Given the description of an element on the screen output the (x, y) to click on. 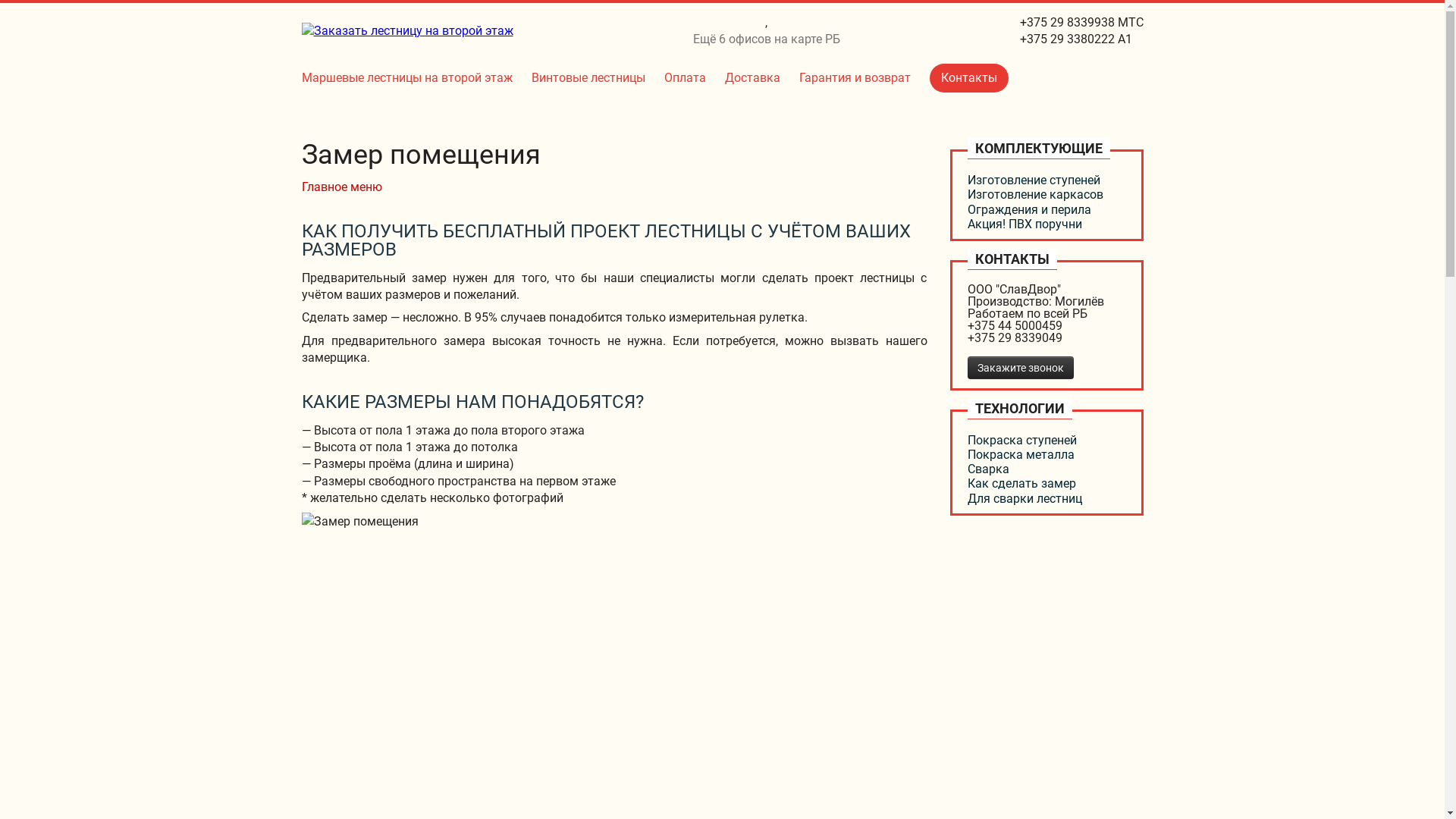
+375 29 8339938 Element type: text (1066, 22)
+375 29 3380222 Element type: text (1066, 38)
